Given the description of an element on the screen output the (x, y) to click on. 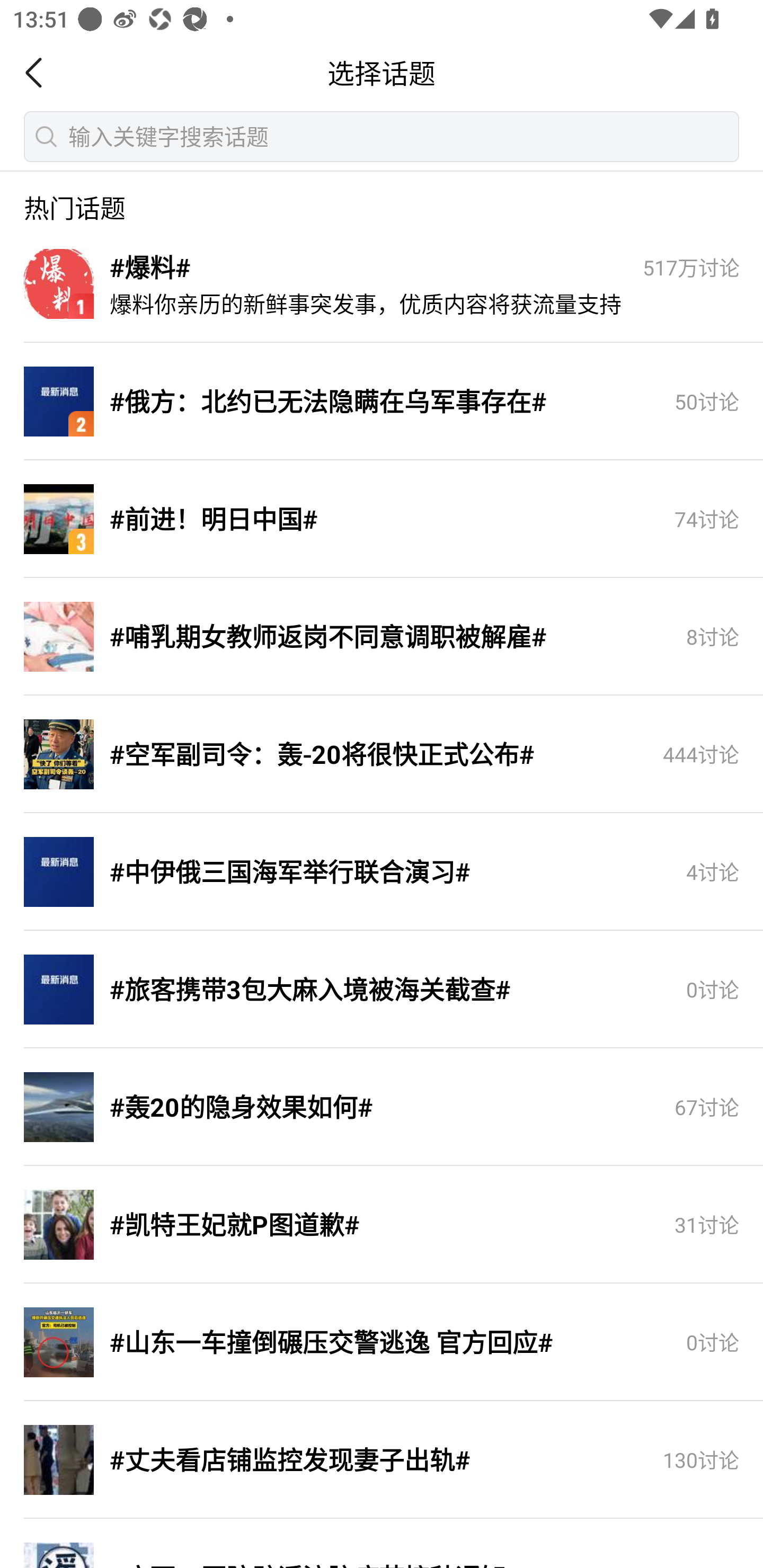
返回 (39, 72)
输入关键字搜索话题 (381, 136)
#爆料# 517万讨论 爆料你亲历的新鲜事突发事，优质内容将获流量支持 (381, 284)
#俄方：北约已无法隐瞒在乌军事存在# 50讨论 (381, 401)
#前进！明日中国# 74讨论 (381, 519)
#哺乳期女教师返岗不同意调职被解雇# 8讨论 (381, 637)
#空军副司令：轰-20将很快正式公布# 444讨论 (381, 754)
#中伊俄三国海军举行联合演习# 4讨论 (381, 872)
#旅客携带3包大麻入境被海关截查# 0讨论 (381, 989)
#轰20的隐身效果如何# 67讨论 (381, 1107)
#凯特王妃就P图道歉# 31讨论 (381, 1225)
#山东一车撞倒碾压交警逃逸 官方回应# 0讨论 (381, 1342)
#丈夫看店铺监控发现妻子出轨# 130讨论 (381, 1460)
